Given the description of an element on the screen output the (x, y) to click on. 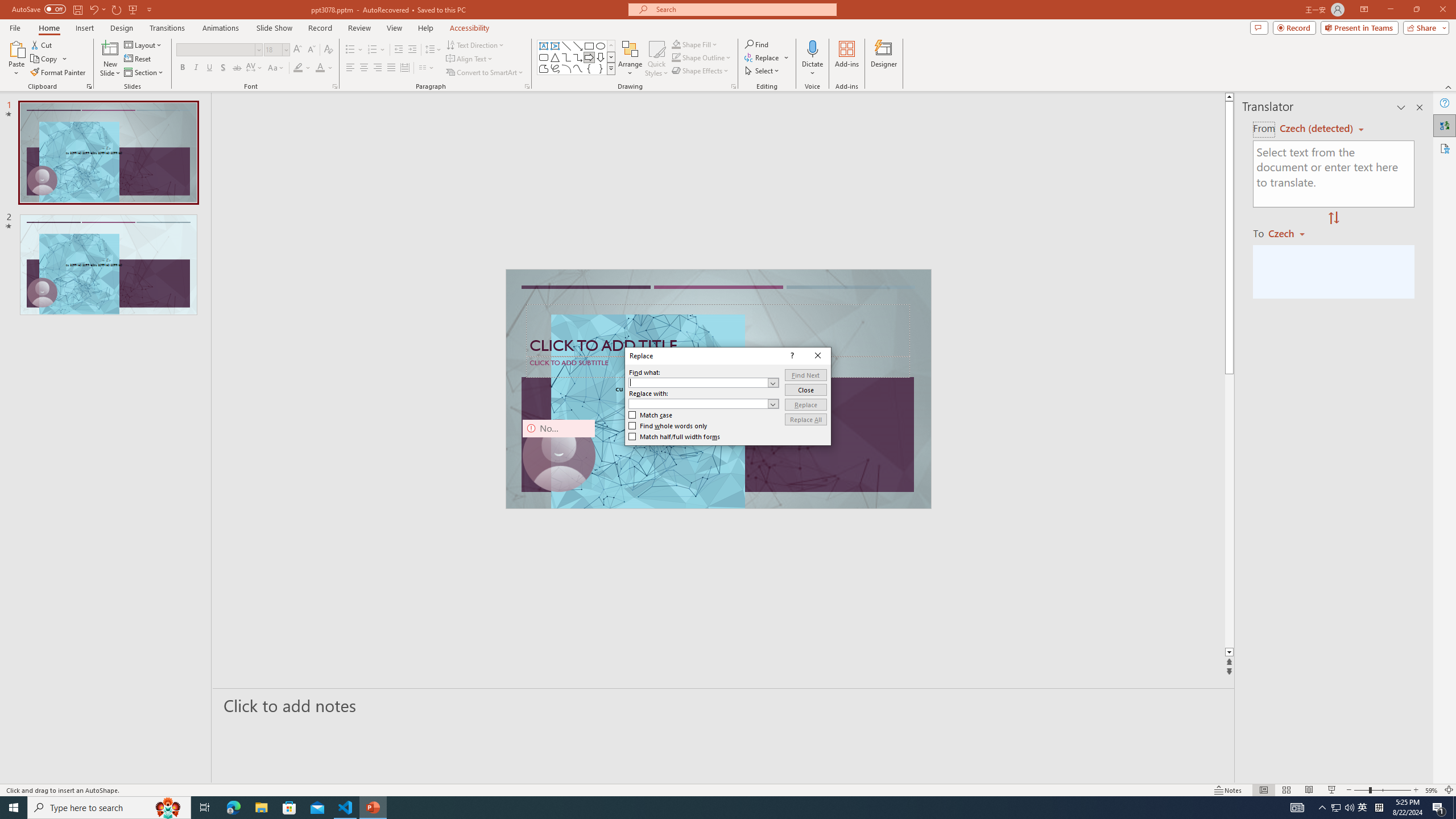
Shape Effects (700, 69)
AutomationID: ShapesInsertGallery (576, 57)
Strikethrough (237, 67)
Tray Input Indicator - Chinese (Simplified, China) (1378, 807)
Right Brace (1335, 807)
Running applications (600, 68)
Reset (707, 807)
PowerPoint - 1 running window (138, 58)
Clear Formatting (373, 807)
Italic (327, 49)
Context help (195, 67)
